Given the description of an element on the screen output the (x, y) to click on. 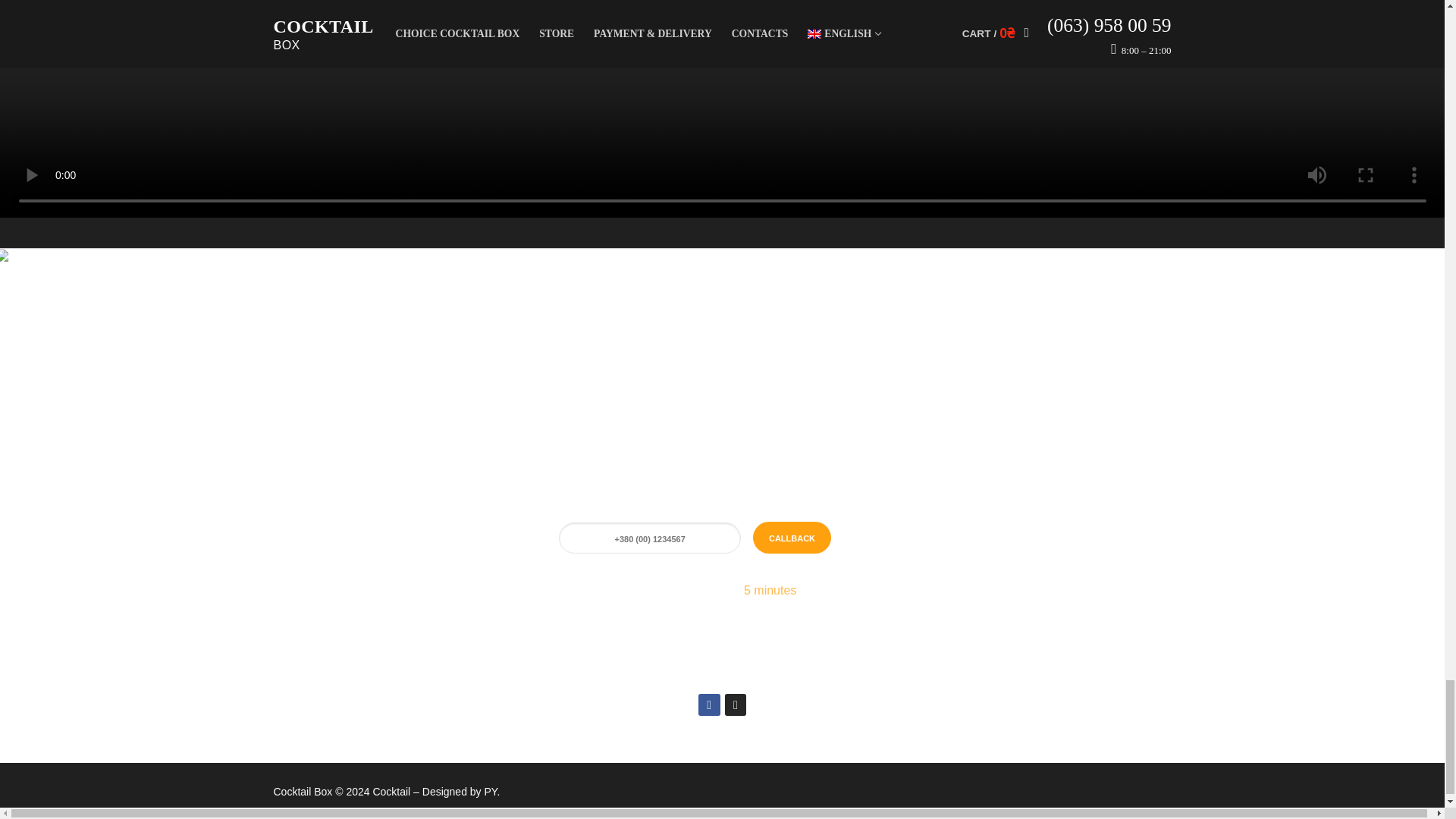
Facebook (708, 705)
Instagram (735, 705)
Callback (791, 537)
Callback (791, 537)
